Given the description of an element on the screen output the (x, y) to click on. 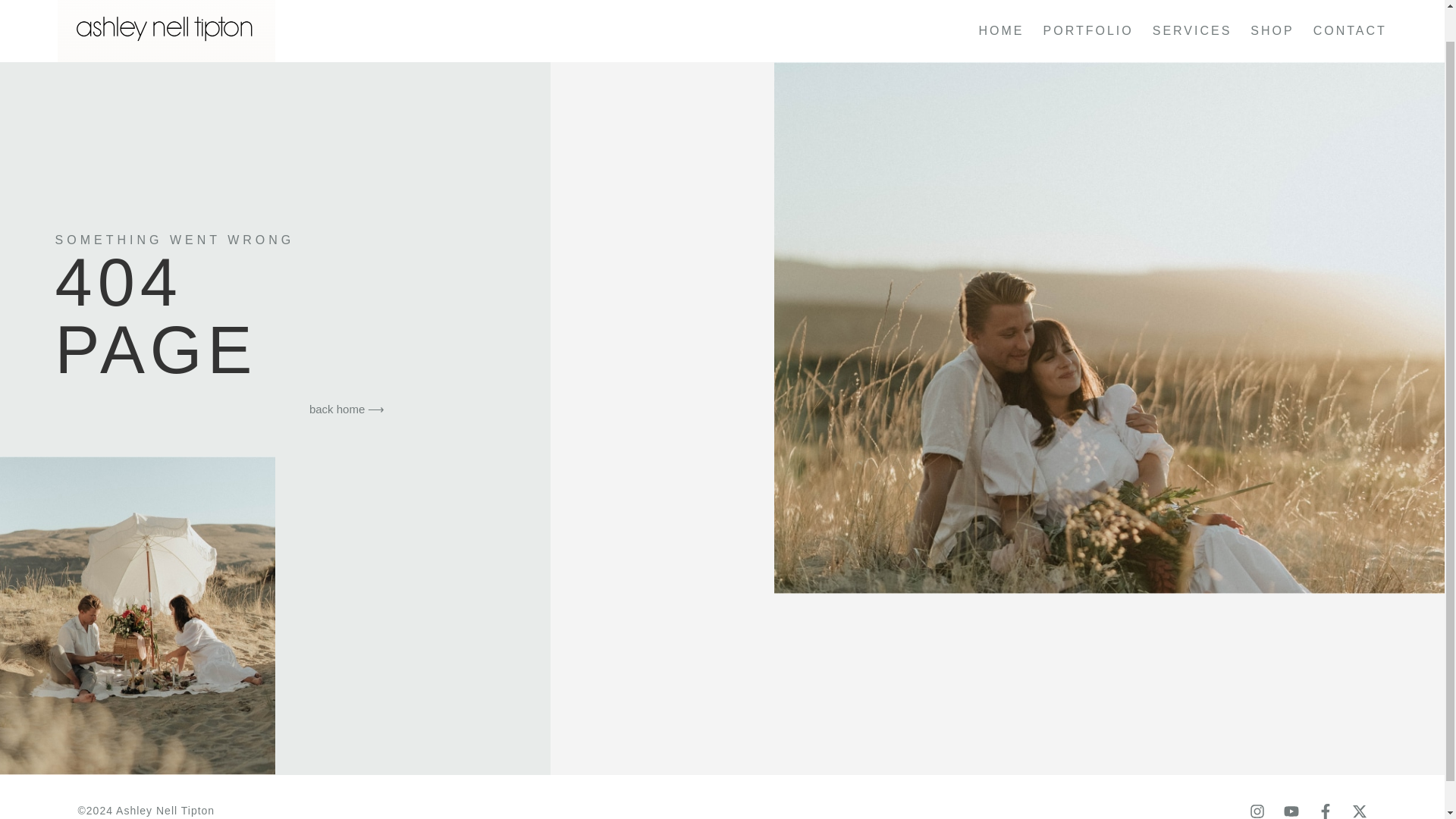
HOME (1001, 31)
CONTACT (1350, 31)
SHOP (1272, 31)
PORTFOLIO (1088, 31)
SERVICES (1192, 31)
